Given the description of an element on the screen output the (x, y) to click on. 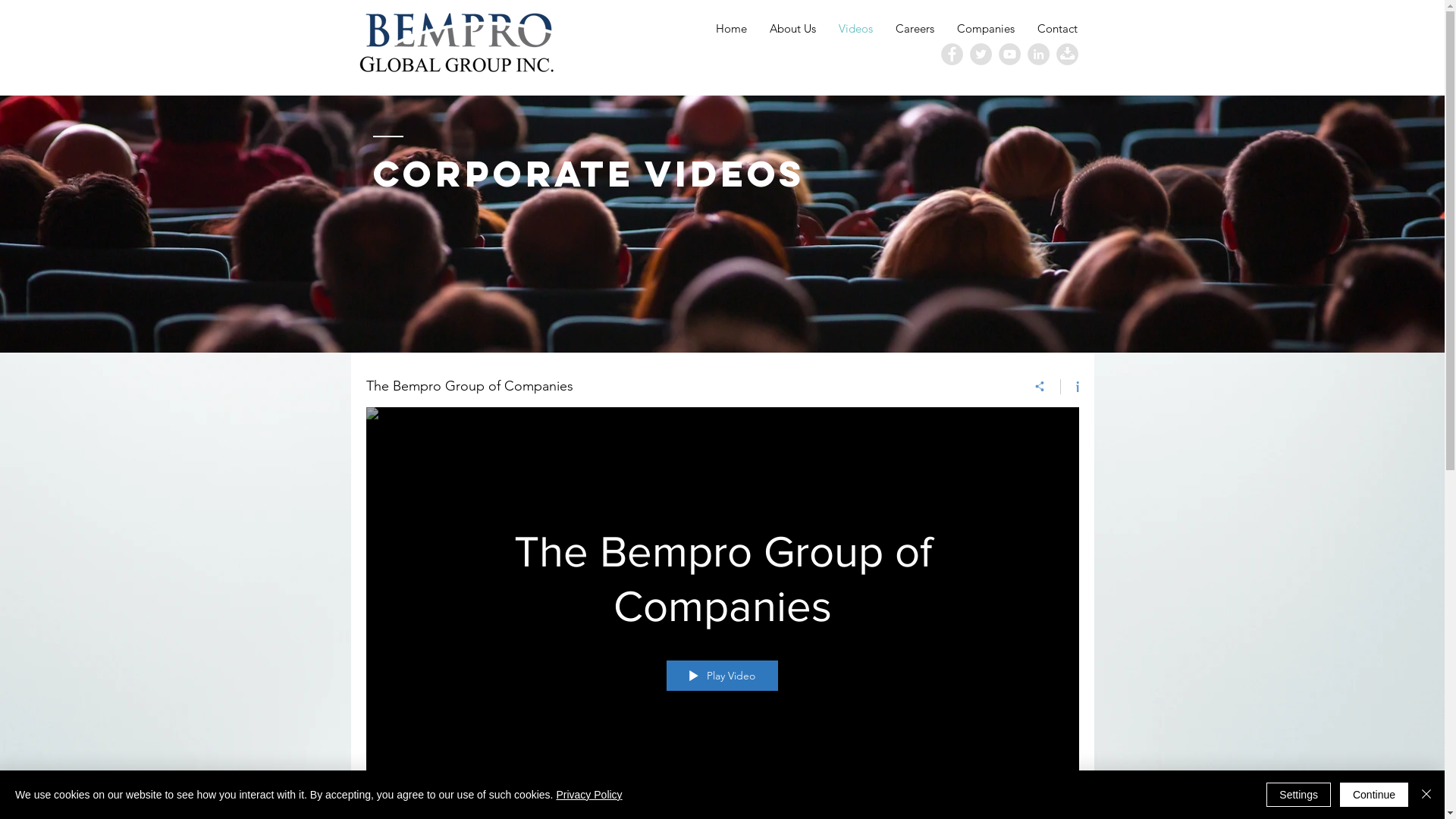
Videos Element type: text (854, 28)
Home Element type: text (730, 28)
Continue Element type: text (1373, 794)
About Us Element type: text (792, 28)
Play Video Element type: text (721, 675)
Contact Element type: text (1056, 28)
Careers Element type: text (914, 28)
Settings Element type: text (1298, 794)
Privacy Policy Element type: text (588, 794)
Companies Element type: text (984, 28)
